Given the description of an element on the screen output the (x, y) to click on. 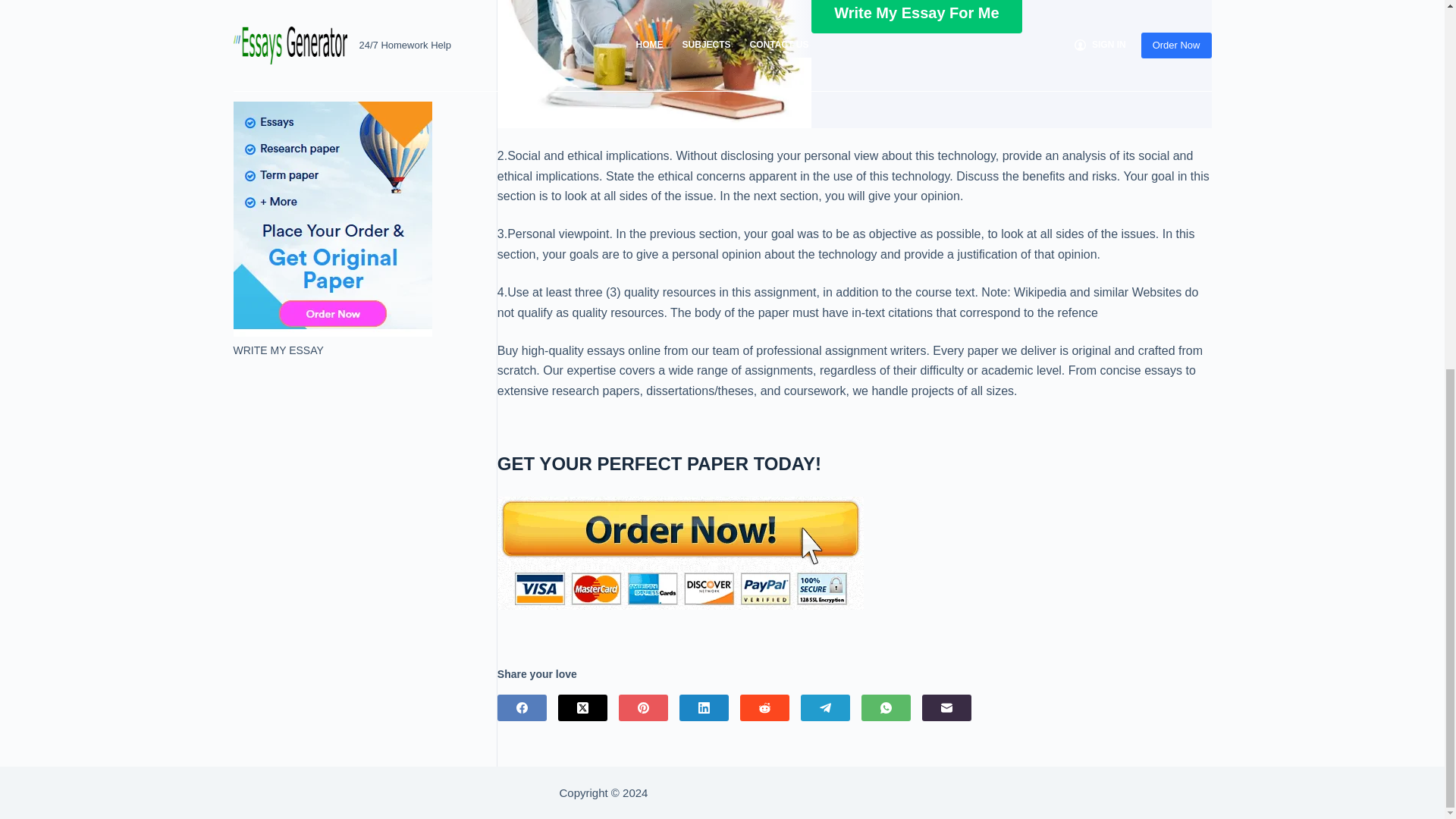
Write My Essay For Me (916, 16)
